Given the description of an element on the screen output the (x, y) to click on. 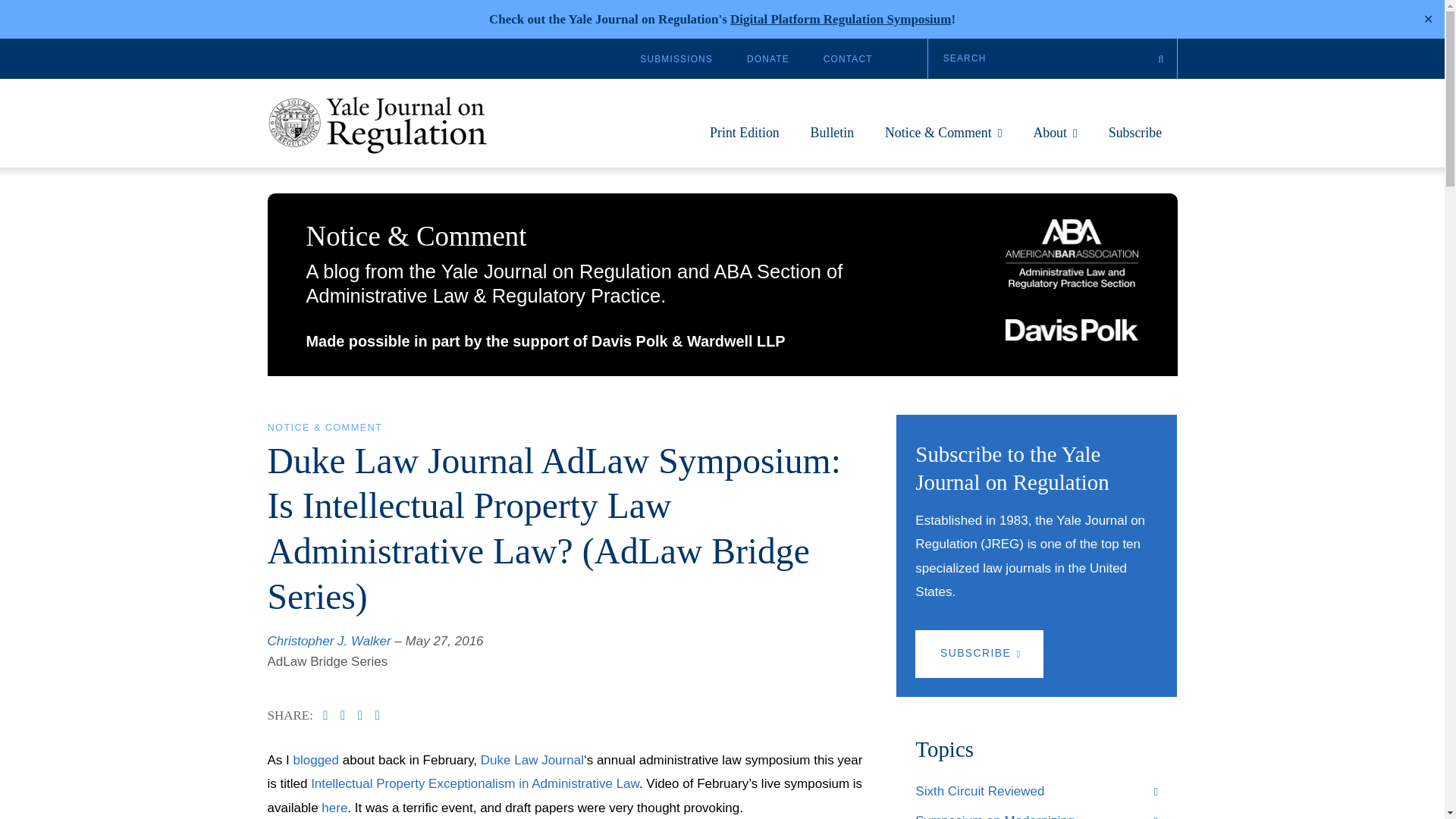
Print Edition (744, 140)
Subscribe (1134, 140)
Christopher J. Walker (328, 640)
SUBMISSIONS (676, 59)
Search (1052, 58)
Digital Platform Regulation Symposium (840, 19)
DONATE (767, 59)
AdLaw Bridge Series (326, 661)
CONTACT (848, 59)
